Given the description of an element on the screen output the (x, y) to click on. 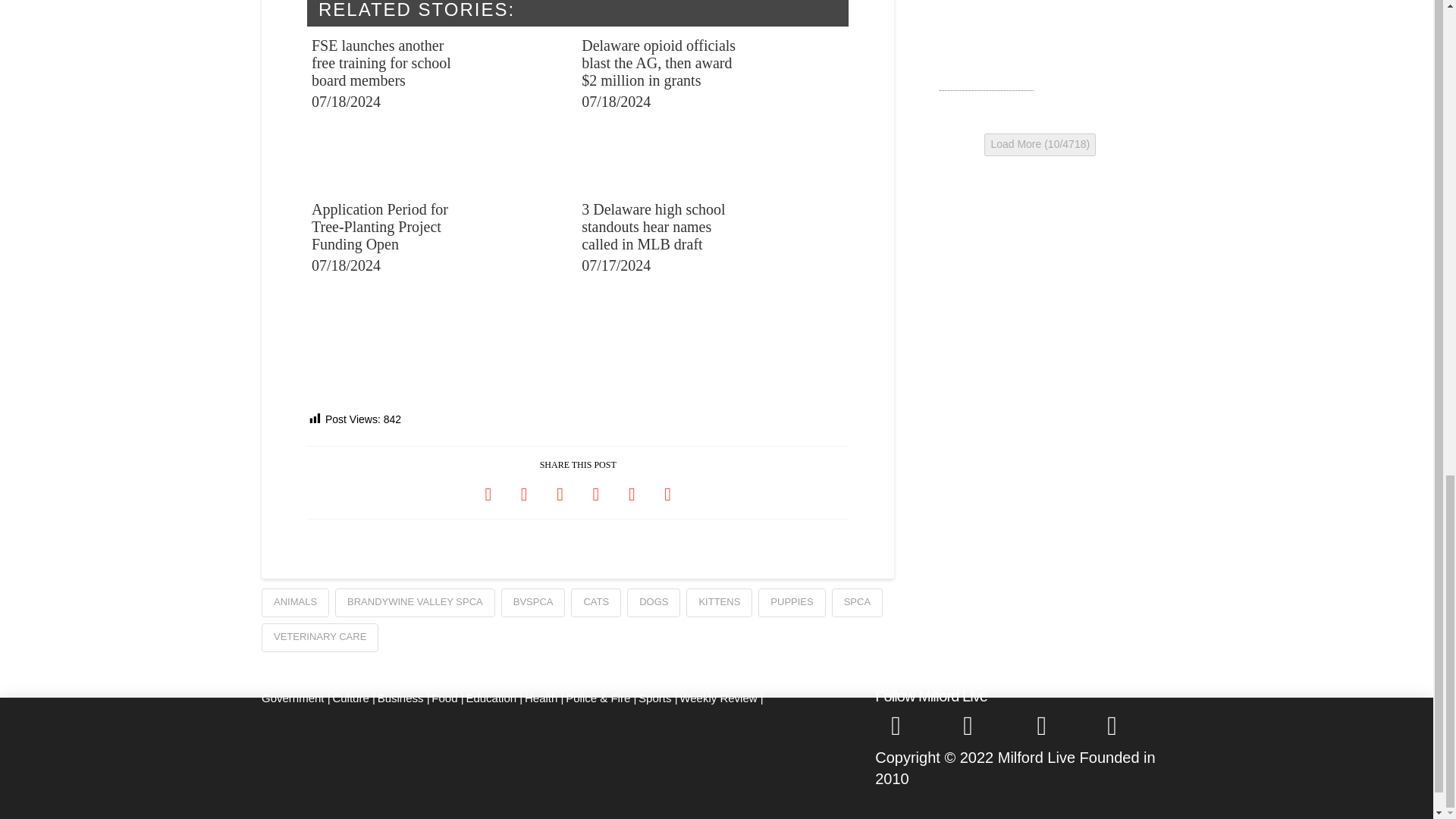
BRANDYWINE VALLEY SPCA (414, 602)
BVSPCA (533, 602)
Share on LinkedIn (559, 493)
Share on X (523, 493)
Share via Email (667, 493)
Share on Reddit (631, 493)
ANIMALS (295, 602)
Share on Pinterest (595, 493)
Share on Facebook (487, 493)
